Given the description of an element on the screen output the (x, y) to click on. 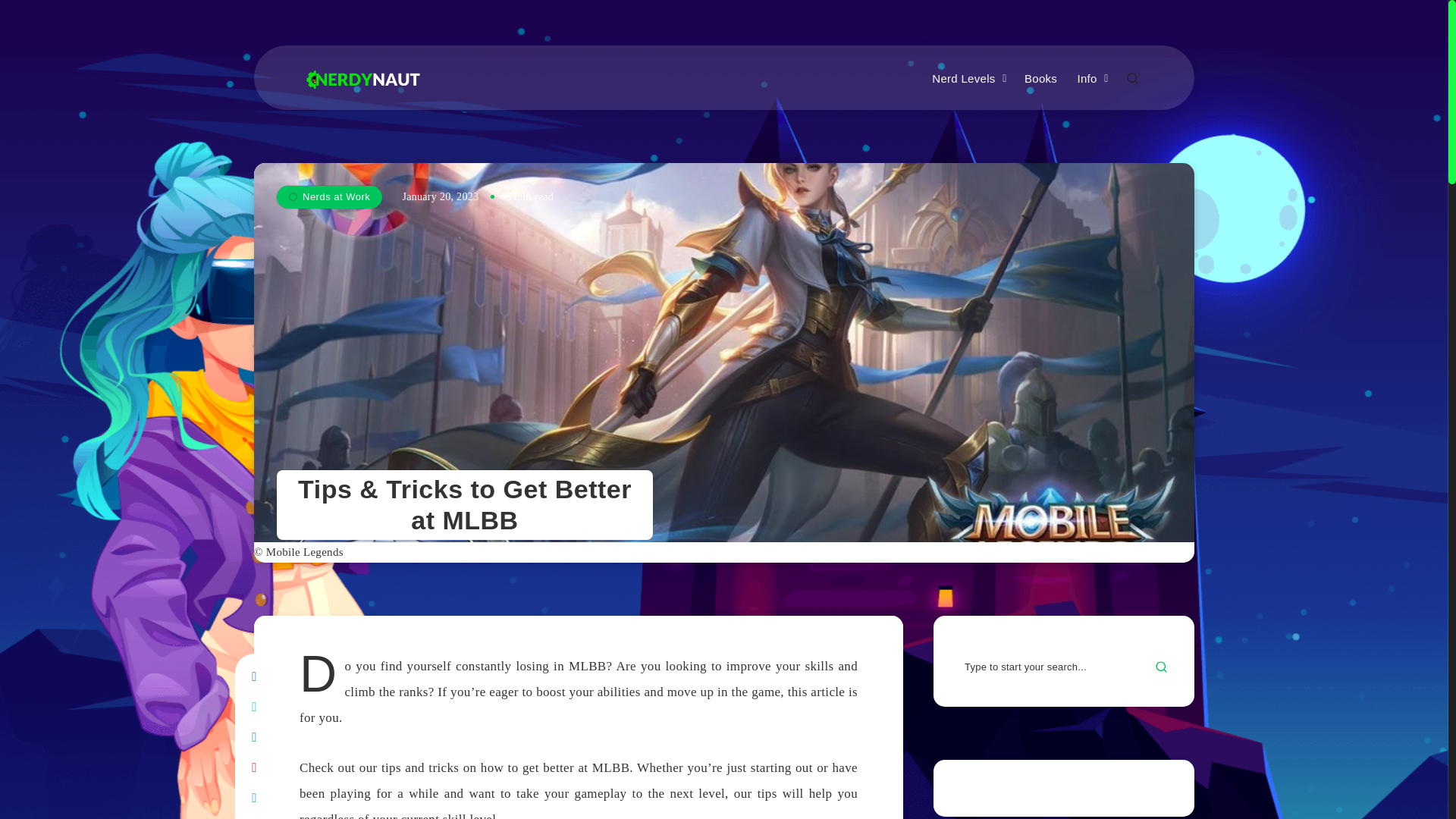
Books (1041, 79)
Info (1086, 79)
Nerd Levels (962, 79)
